Given the description of an element on the screen output the (x, y) to click on. 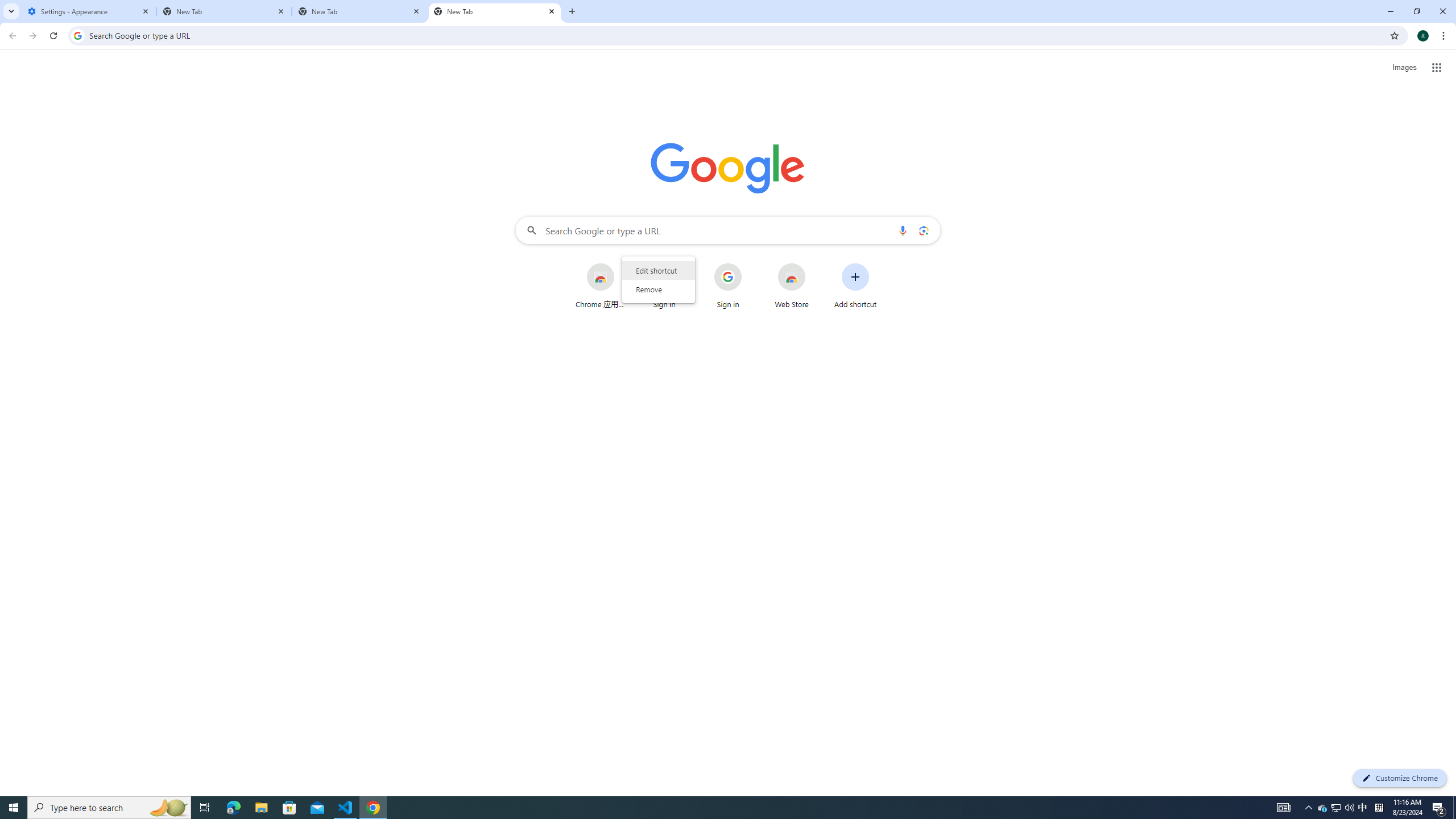
New Tab (494, 11)
Remove (657, 289)
AutomationID: wrapper (657, 279)
Edit shortcut (657, 270)
